Given the description of an element on the screen output the (x, y) to click on. 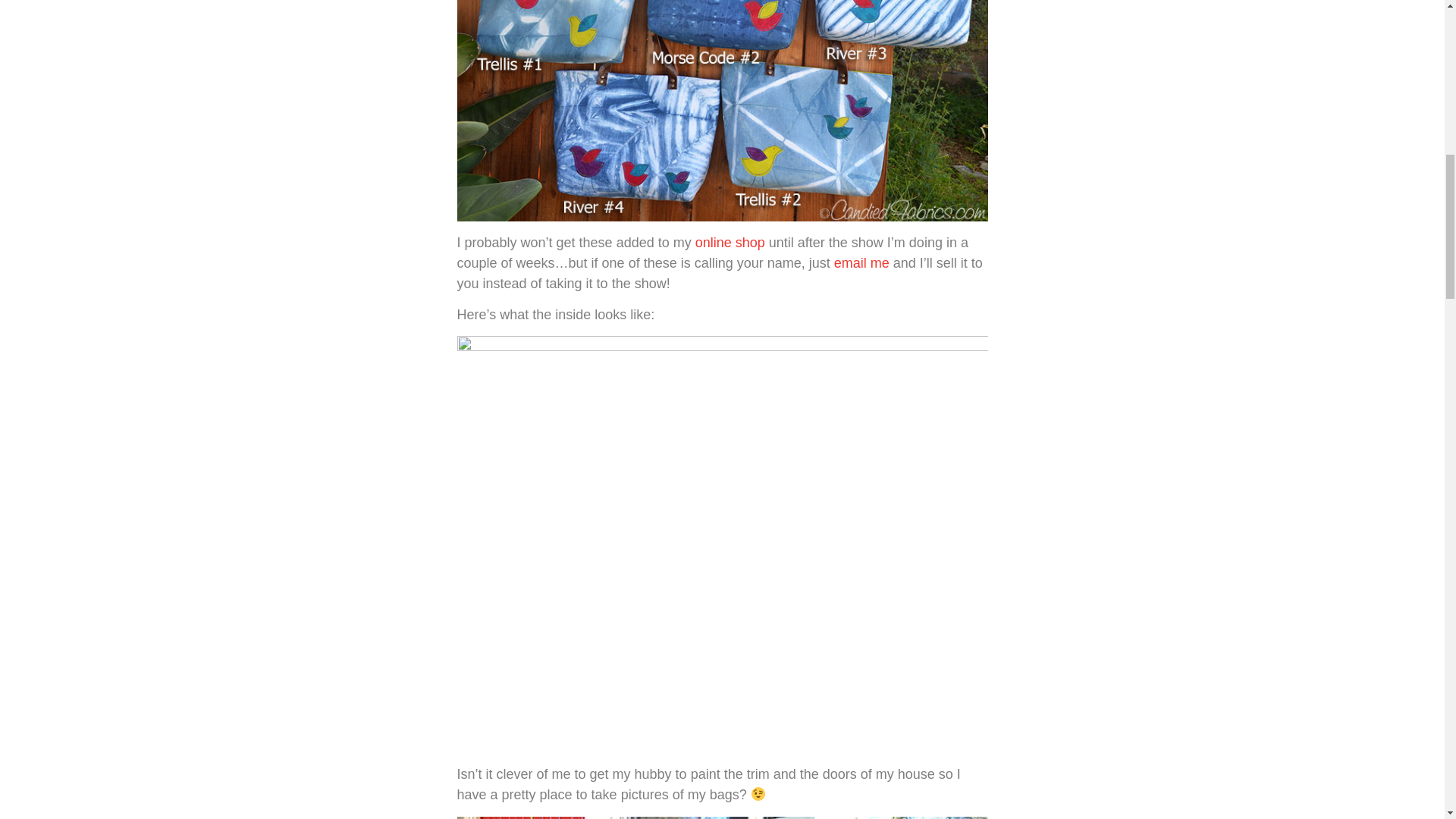
online shop (730, 242)
email me (861, 263)
